Given the description of an element on the screen output the (x, y) to click on. 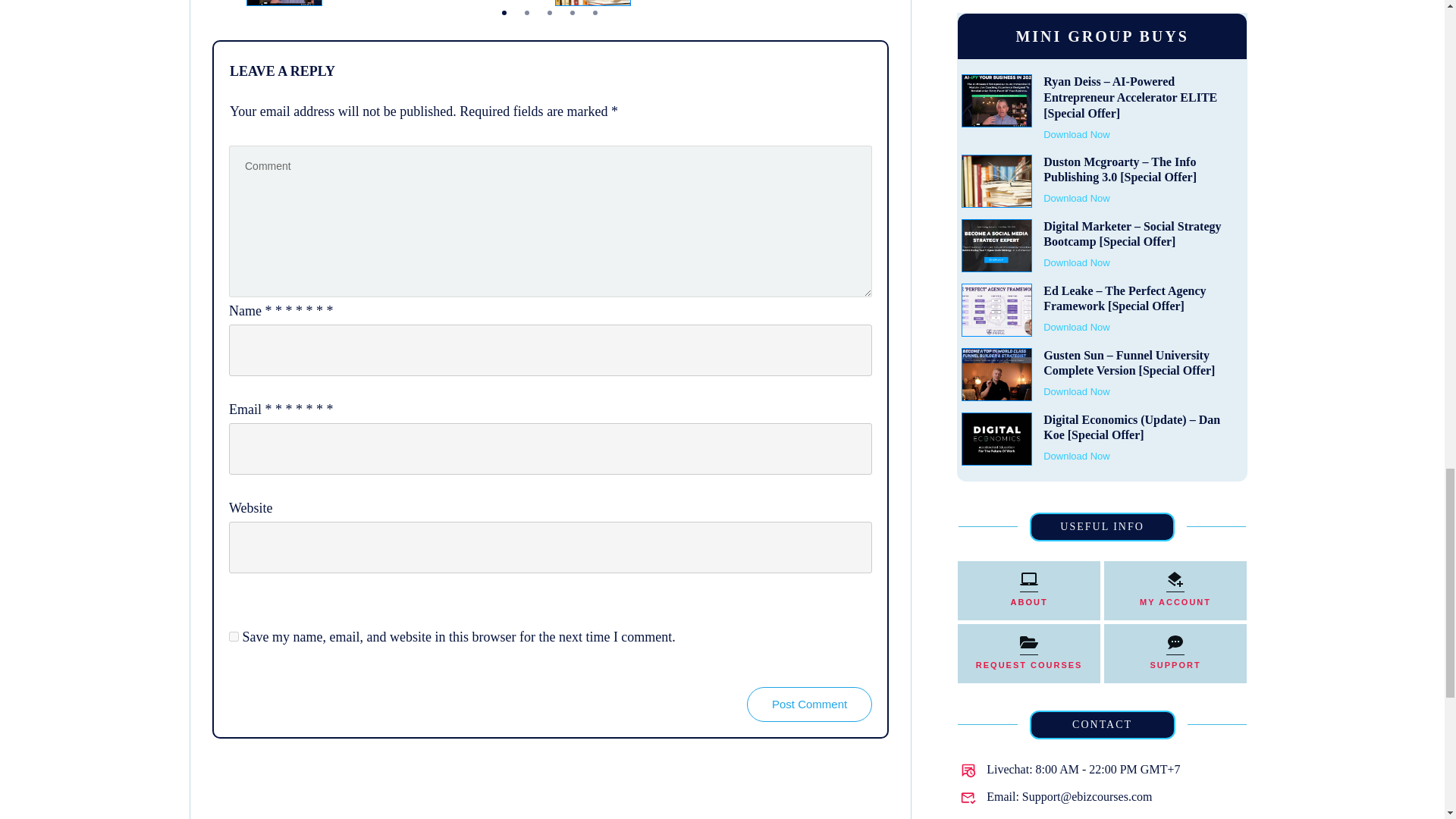
Download Now (674, 1)
yes (233, 636)
Download Now (365, 1)
